Given the description of an element on the screen output the (x, y) to click on. 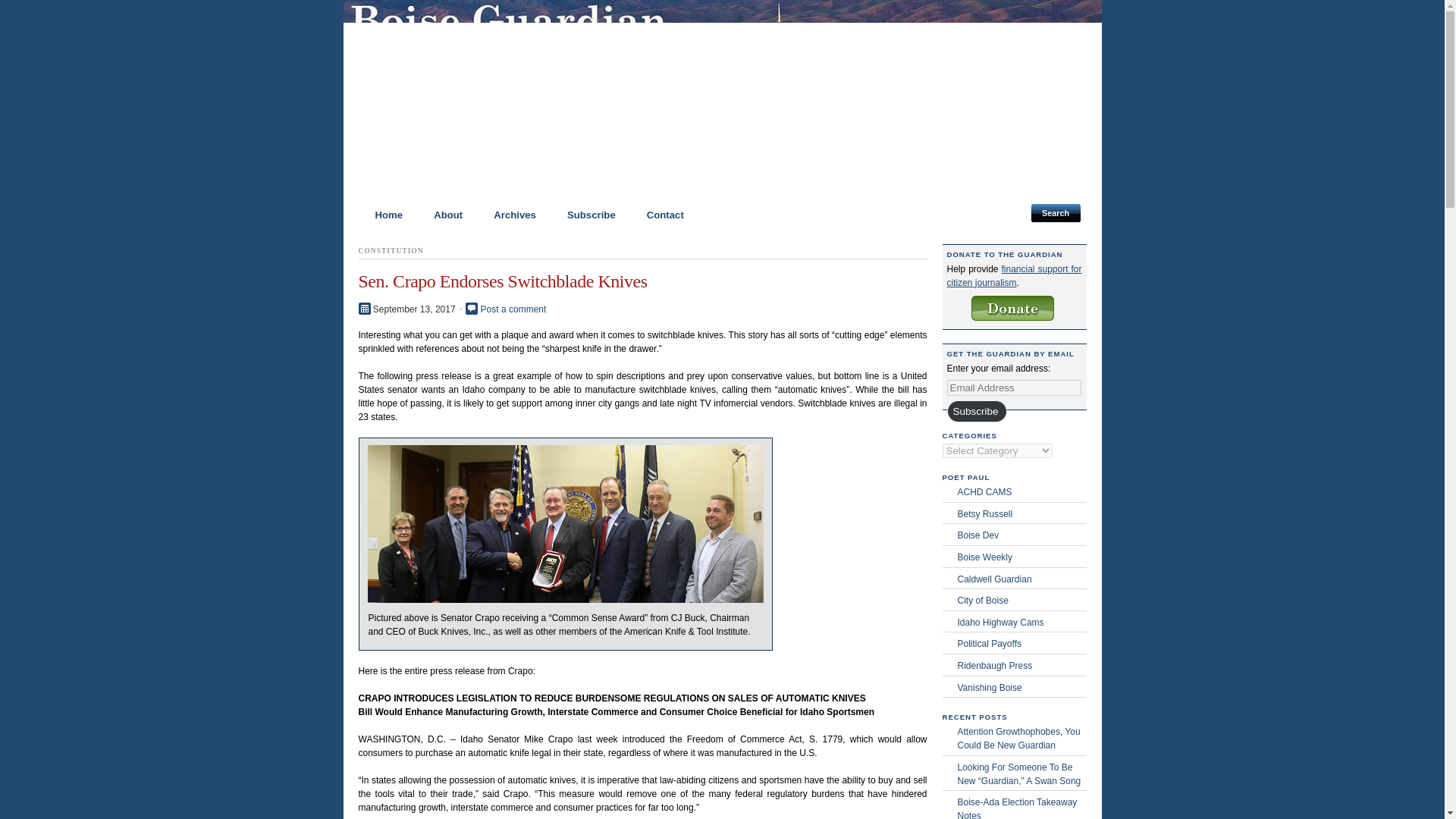
Betsy Russell (1021, 513)
Boise Weekly (1021, 557)
Search (1055, 212)
Ridenbaugh Press (1021, 665)
Political Payoffs (1021, 643)
financial support for citizen journalism (1013, 275)
Subscribe (976, 411)
ACHD CAMS (1021, 491)
Caldwell Guardian (1021, 579)
Contact (657, 214)
Subscribe (583, 214)
Boise Dev (1021, 535)
Post a comment (513, 308)
Idaho Highway Cams (1021, 622)
